Given the description of an element on the screen output the (x, y) to click on. 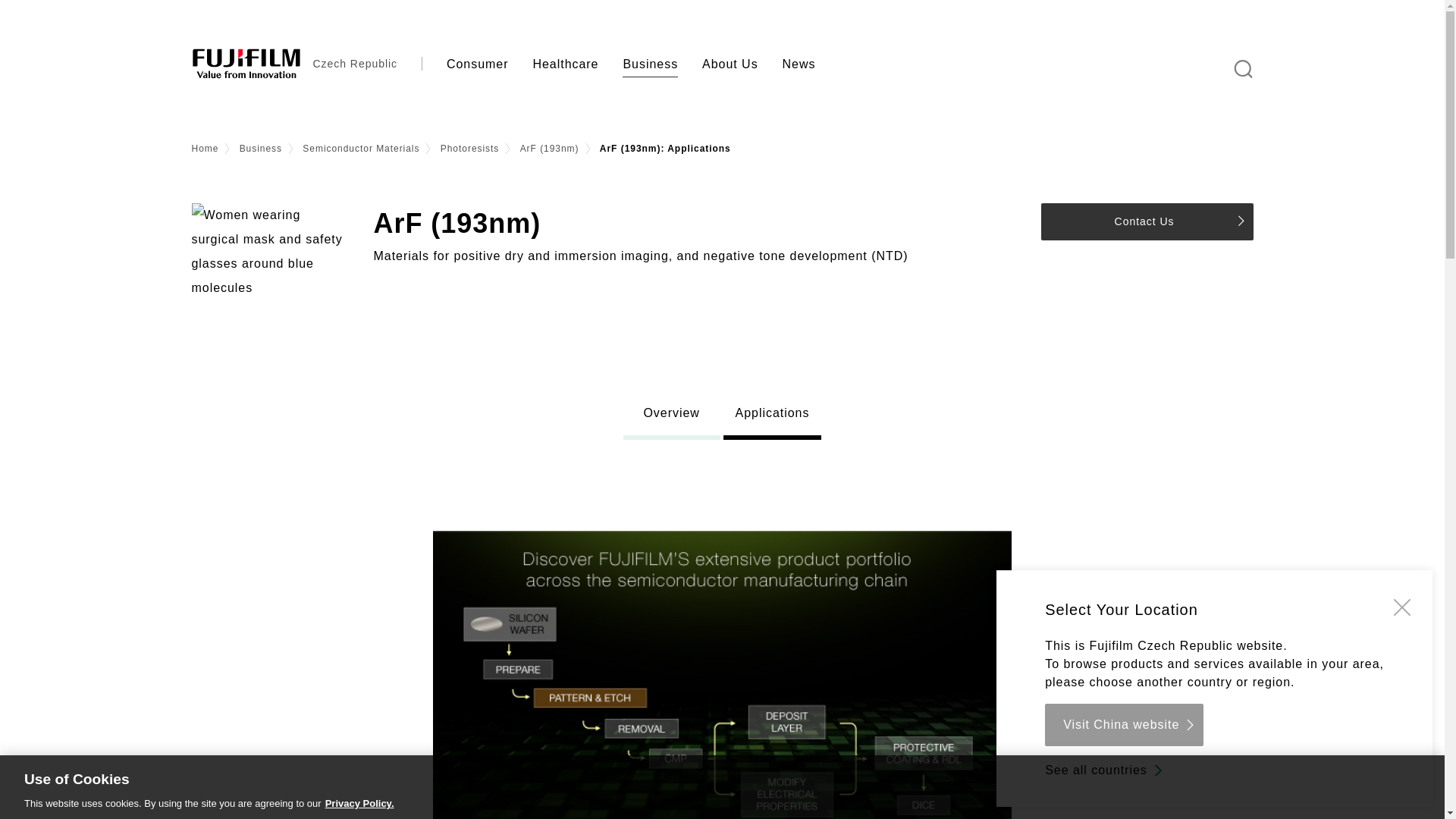
Consumer (477, 63)
Business (650, 63)
Healthcare (564, 63)
Visit China website (1124, 724)
See all countries (1105, 770)
